Given the description of an element on the screen output the (x, y) to click on. 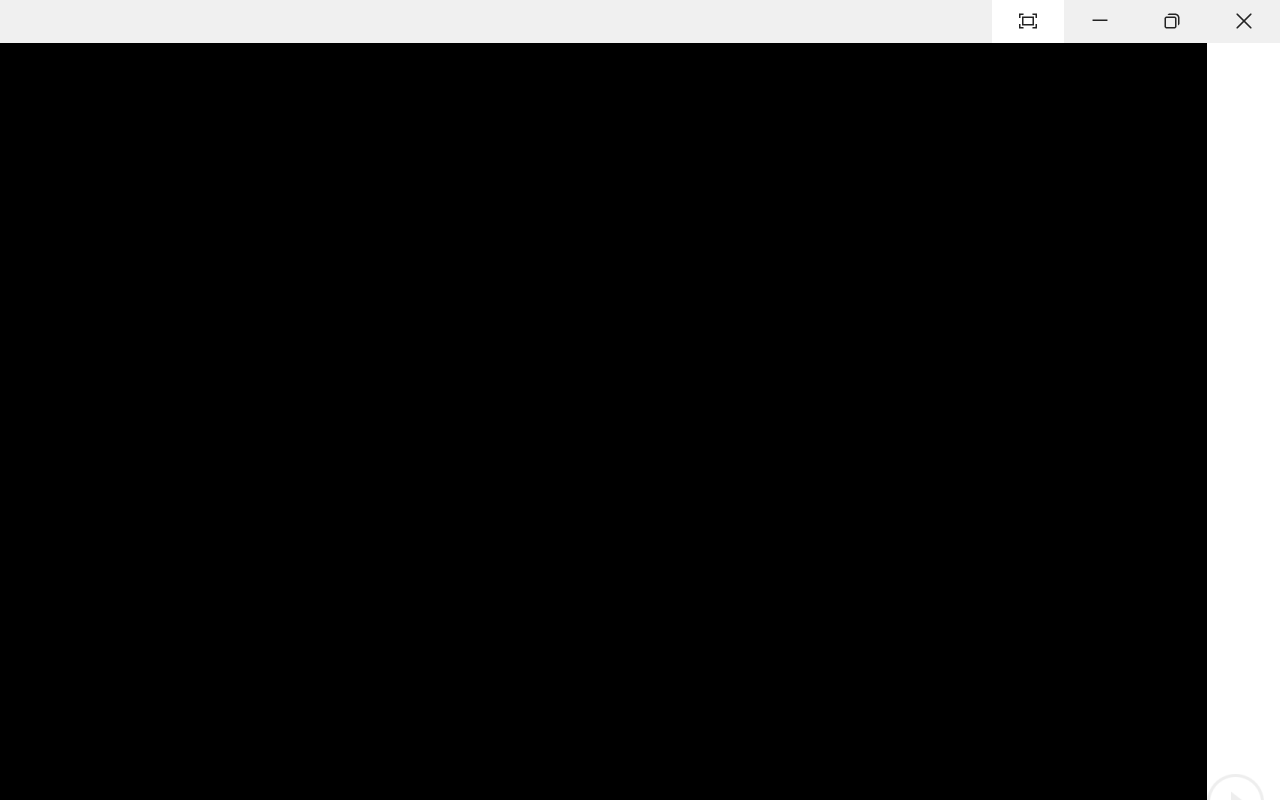
Close this message (1263, 195)
